Given the description of an element on the screen output the (x, y) to click on. 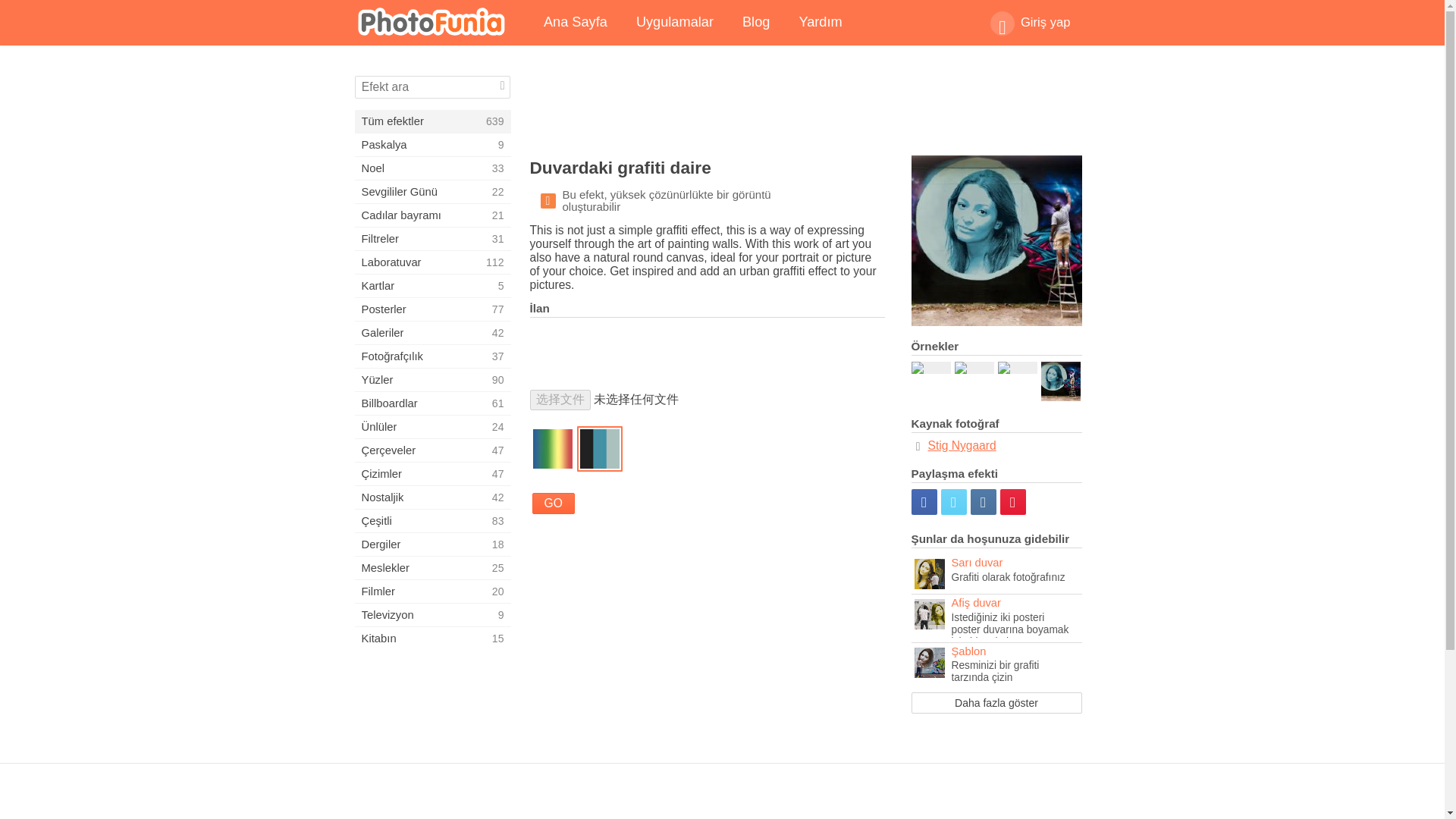
Blog (433, 590)
Uygulamalar (756, 22)
Stig Nygaard (433, 285)
PhotoFunia (433, 567)
Ana Sayfa (674, 22)
